Given the description of an element on the screen output the (x, y) to click on. 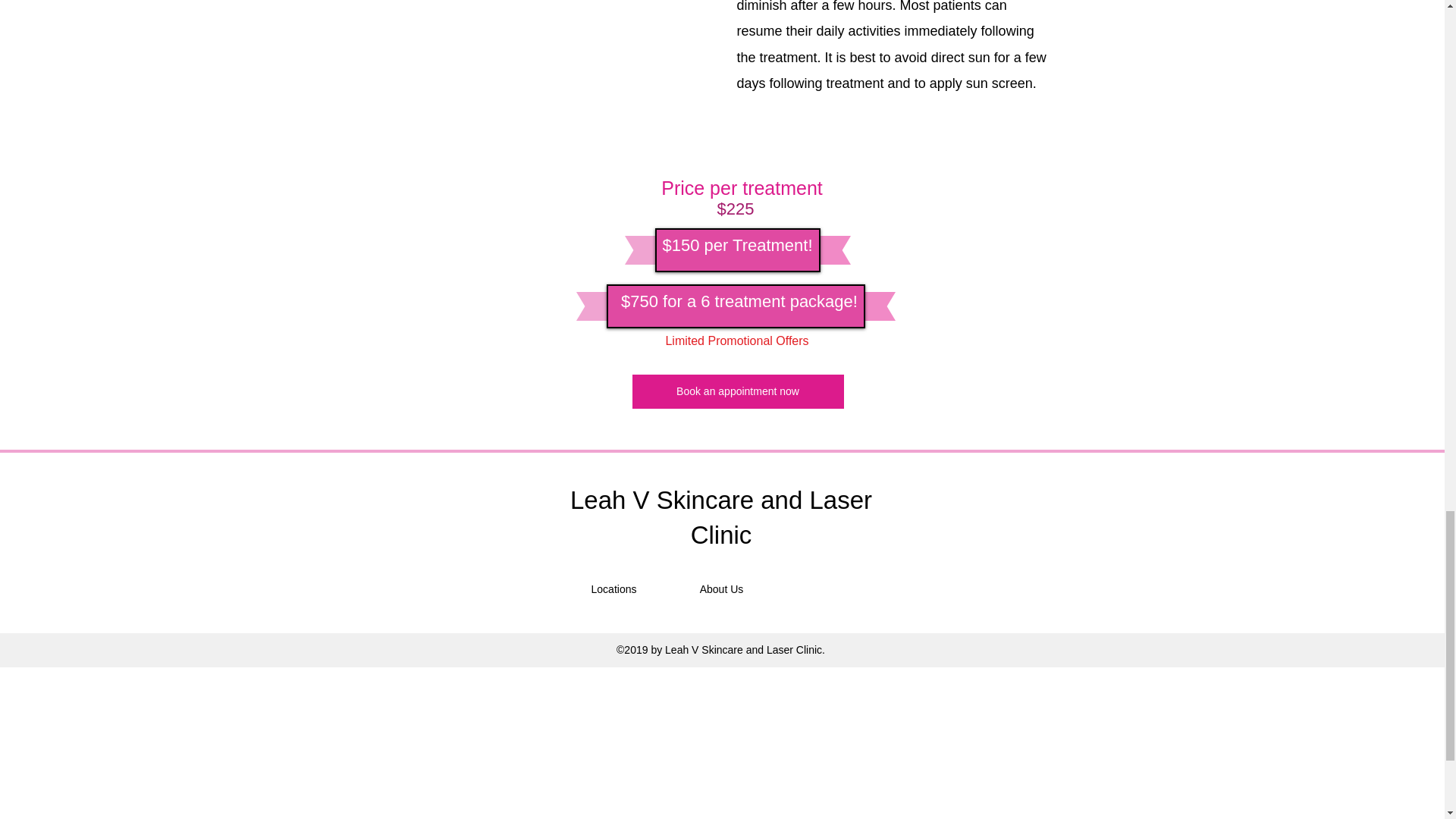
Locations (612, 589)
About Us (720, 589)
Book an appointment now (737, 391)
Leah V Skincare and Laser Clinic (721, 517)
